Given the description of an element on the screen output the (x, y) to click on. 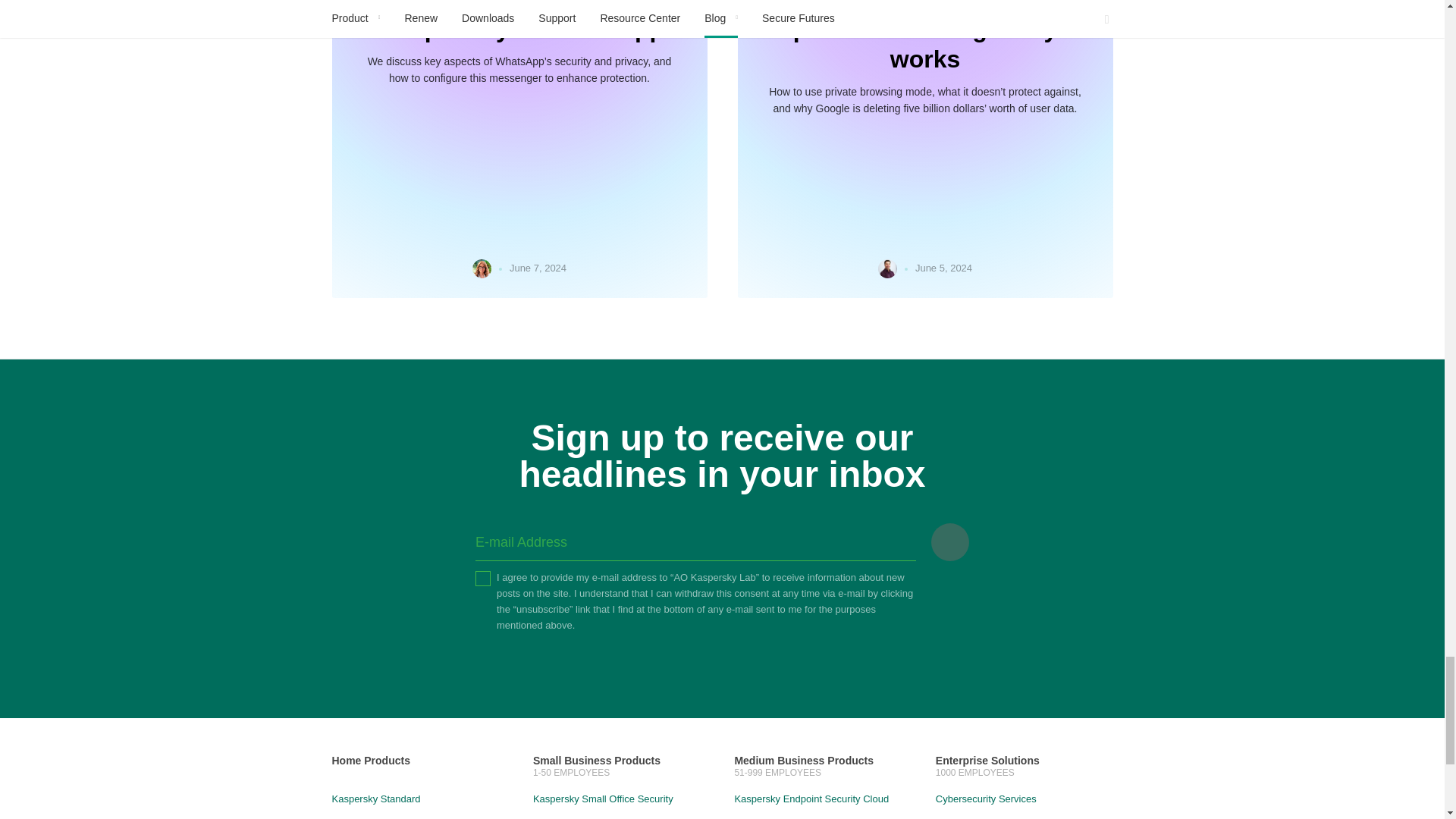
Sign me Up (950, 542)
